Given the description of an element on the screen output the (x, y) to click on. 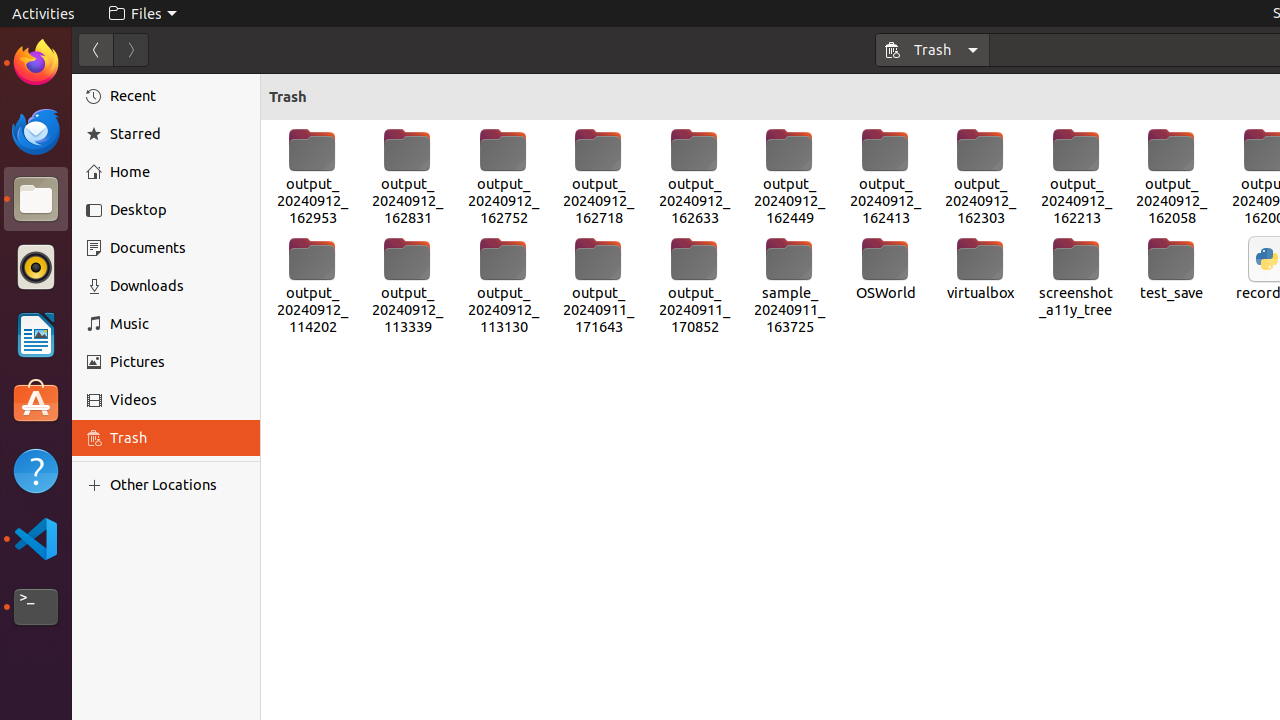
Desktop Element type: label (178, 210)
output_20240911_171643 Element type: canvas (598, 286)
